Given the description of an element on the screen output the (x, y) to click on. 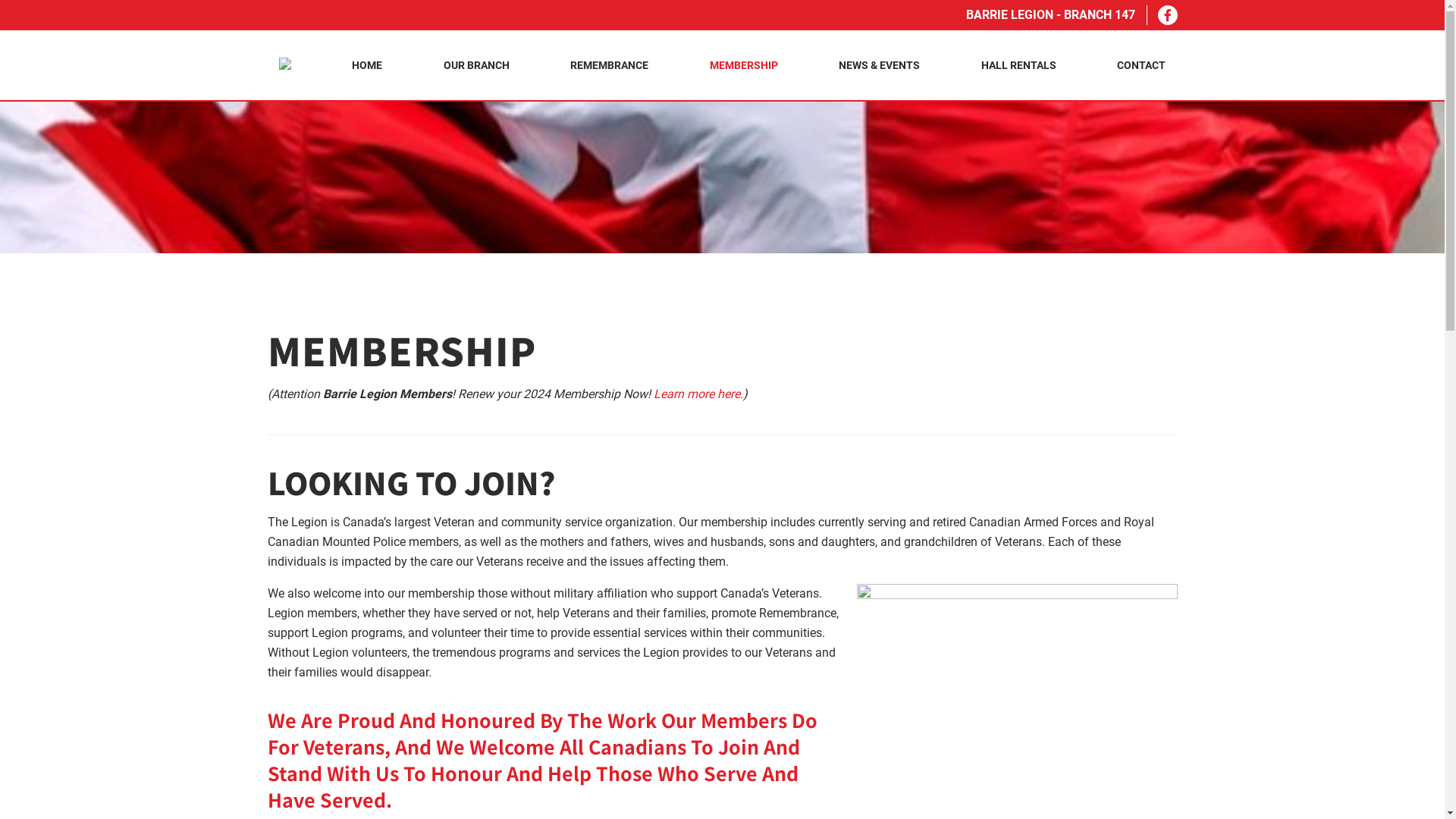
Learn more here. Element type: text (698, 393)
CONTACT Element type: text (1141, 65)
HOME Element type: text (366, 65)
HALL RENTALS Element type: text (1018, 65)
Barrie Legion 147 Element type: hover (285, 65)
MEMBERSHIP Element type: text (743, 65)
REMEMBRANCE Element type: text (609, 65)
OUR BRANCH Element type: text (476, 65)
NEWS & EVENTS Element type: text (878, 65)
